Given the description of an element on the screen output the (x, y) to click on. 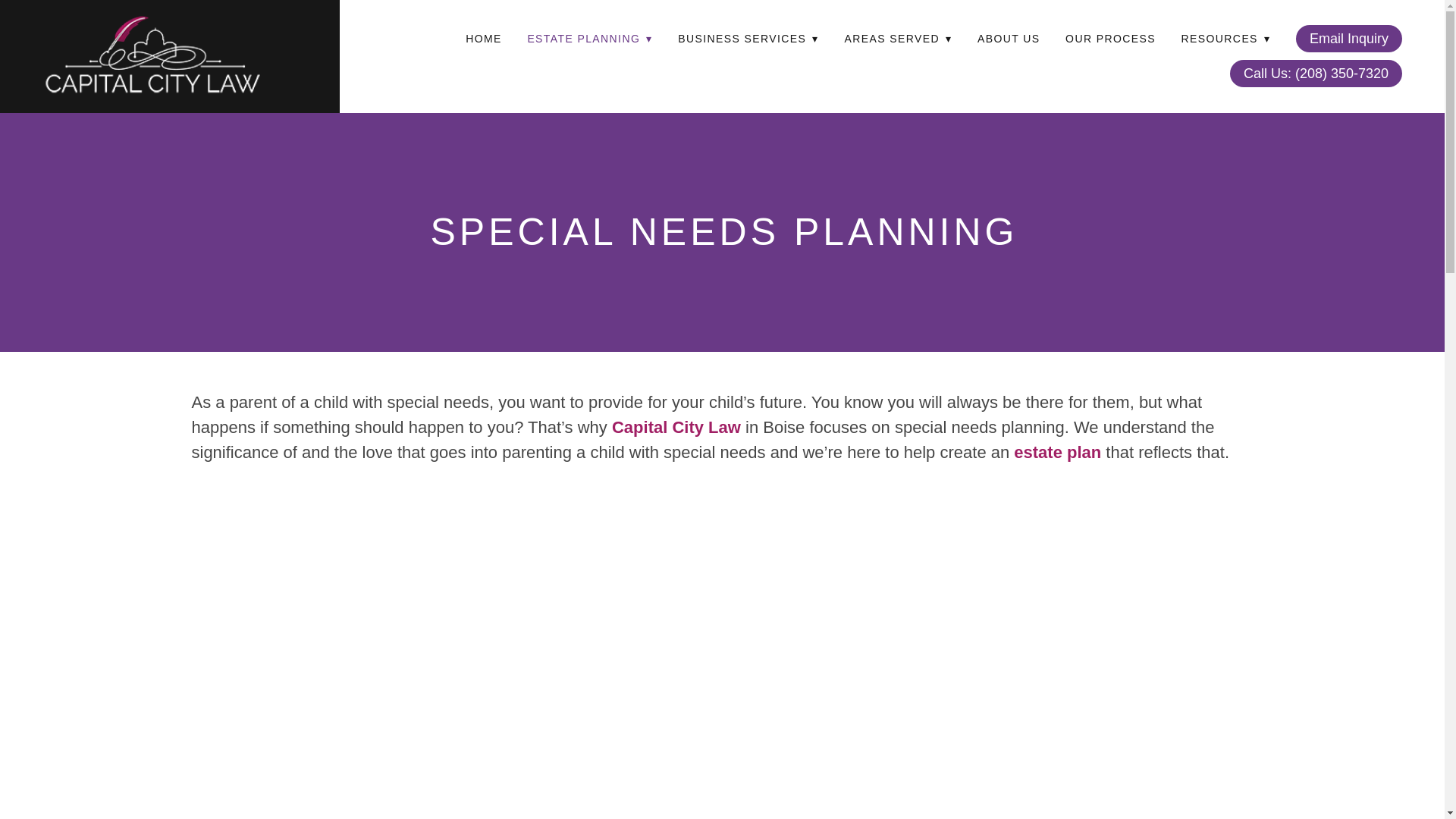
OUR PROCESS (1110, 38)
estate plan (1056, 452)
HOME (483, 38)
Capital City Law (676, 426)
Email Inquiry (1348, 38)
Capital City Law (152, 56)
ABOUT US (1008, 38)
